Given the description of an element on the screen output the (x, y) to click on. 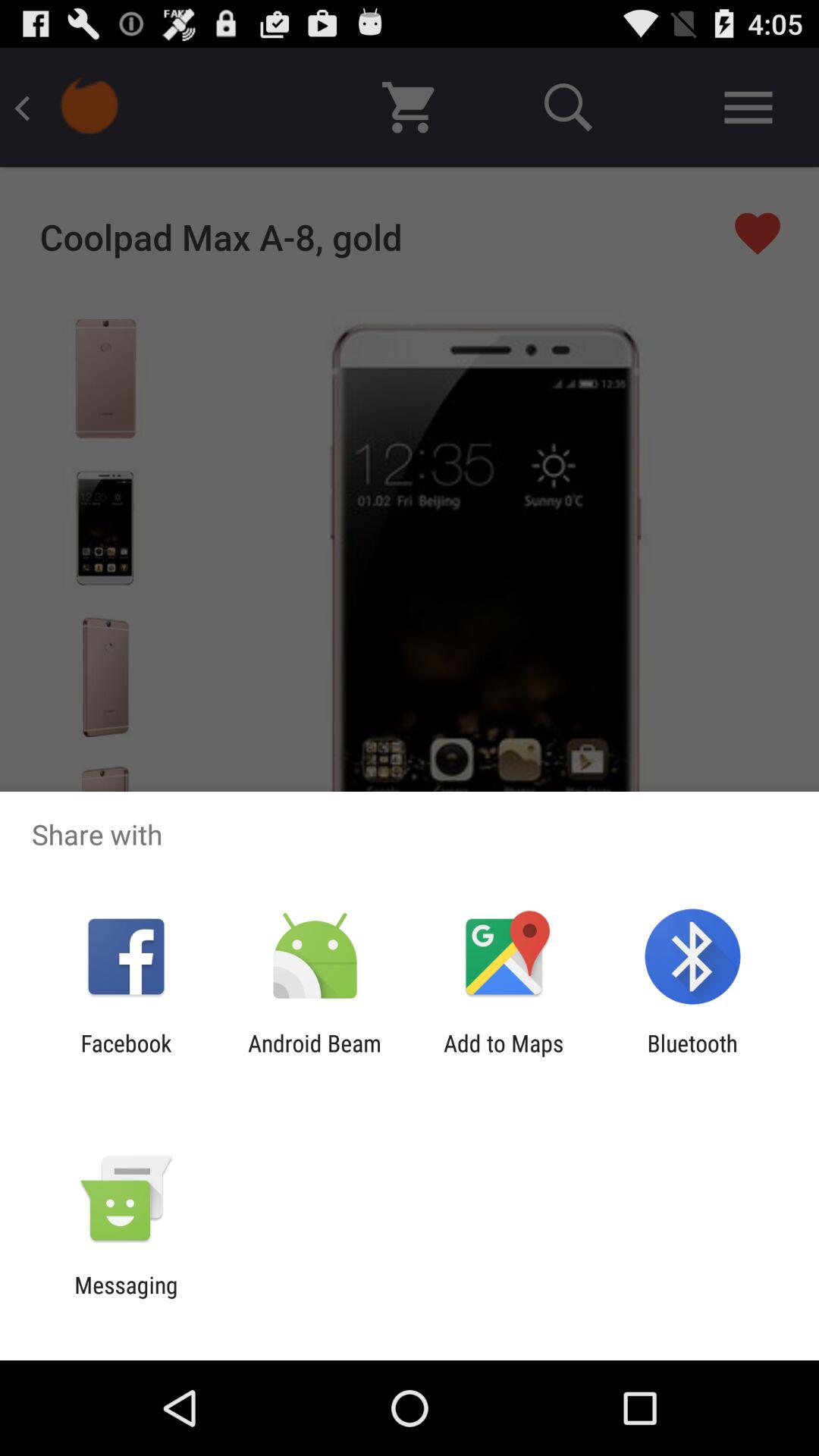
scroll until the bluetooth item (692, 1056)
